Given the description of an element on the screen output the (x, y) to click on. 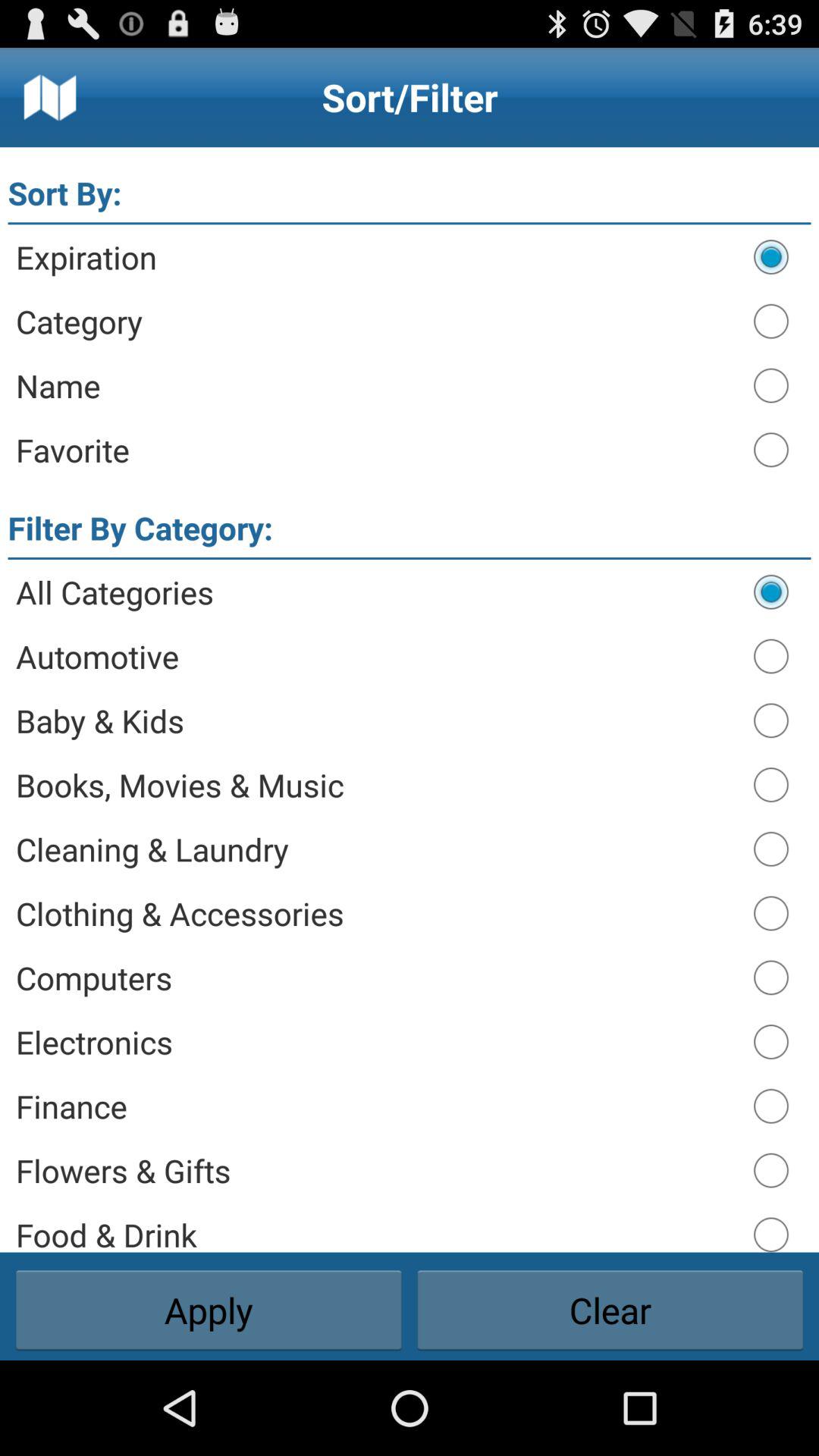
flip until the clothing & accessories icon (377, 913)
